Given the description of an element on the screen output the (x, y) to click on. 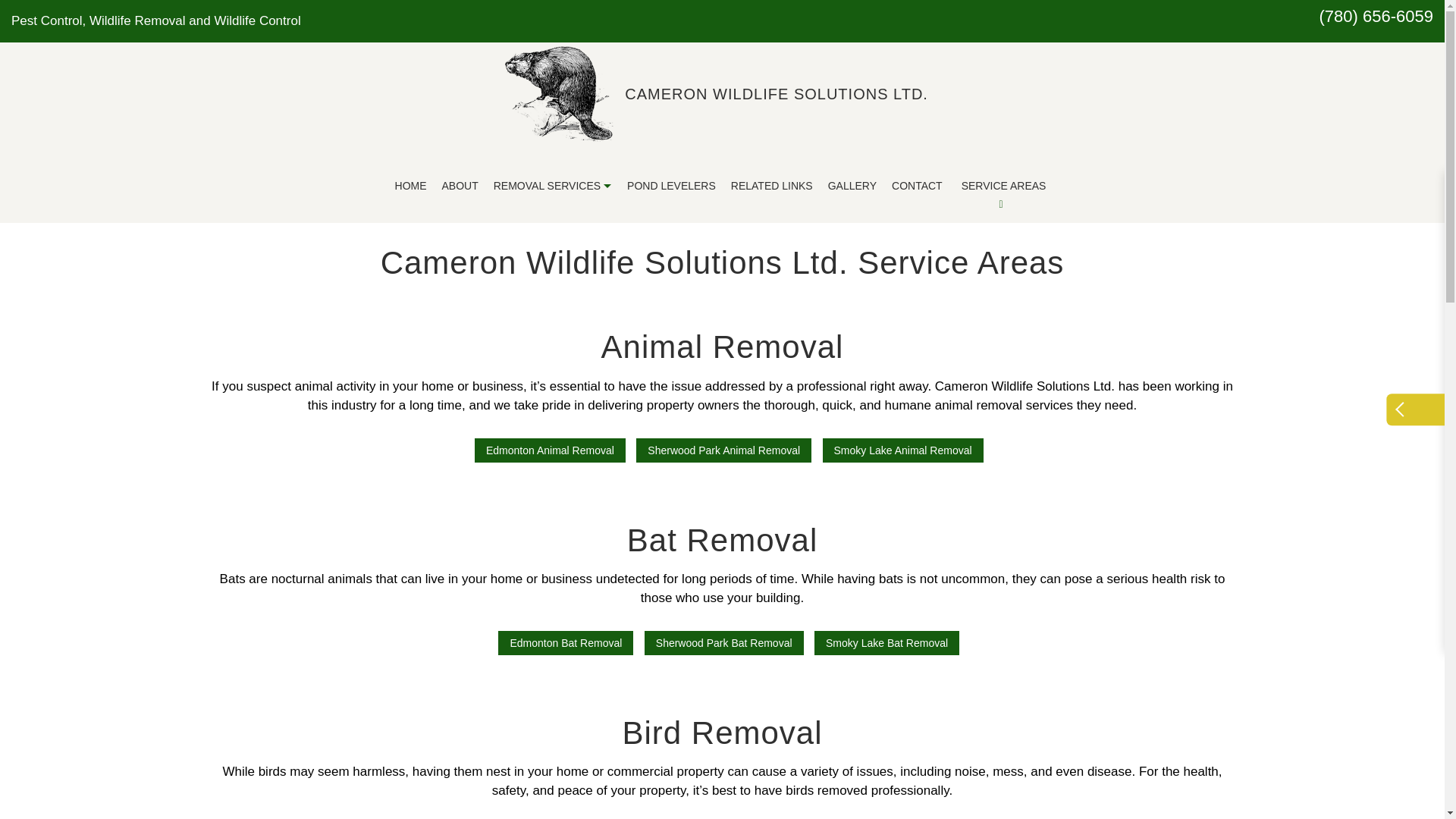
Sherwood Park Bat Removal (724, 642)
RELATED LINKS (772, 185)
WASP CONTROL (628, 314)
Cameron Wildlife Solutions Ltd. (776, 93)
BAT REMOVAL (628, 261)
Edmonton Animal Removal (550, 450)
WILDLIFE REMOVAL (628, 287)
BIRD REMOVAL (432, 287)
Edmonton Bat Removal (565, 642)
Sherwood Park Animal Removal (723, 450)
